Given the description of an element on the screen output the (x, y) to click on. 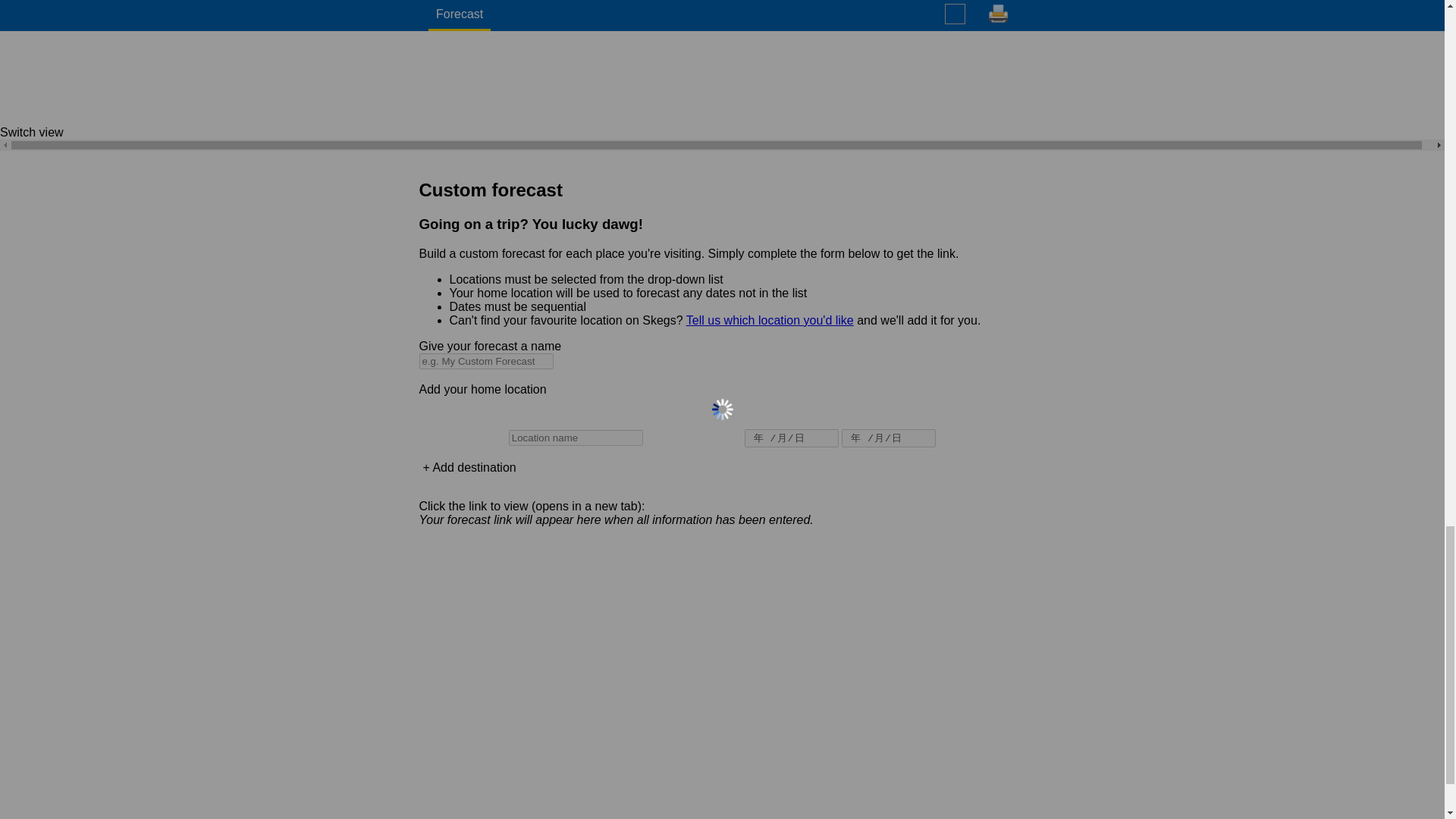
Tell us which location you'd like (769, 319)
